Given the description of an element on the screen output the (x, y) to click on. 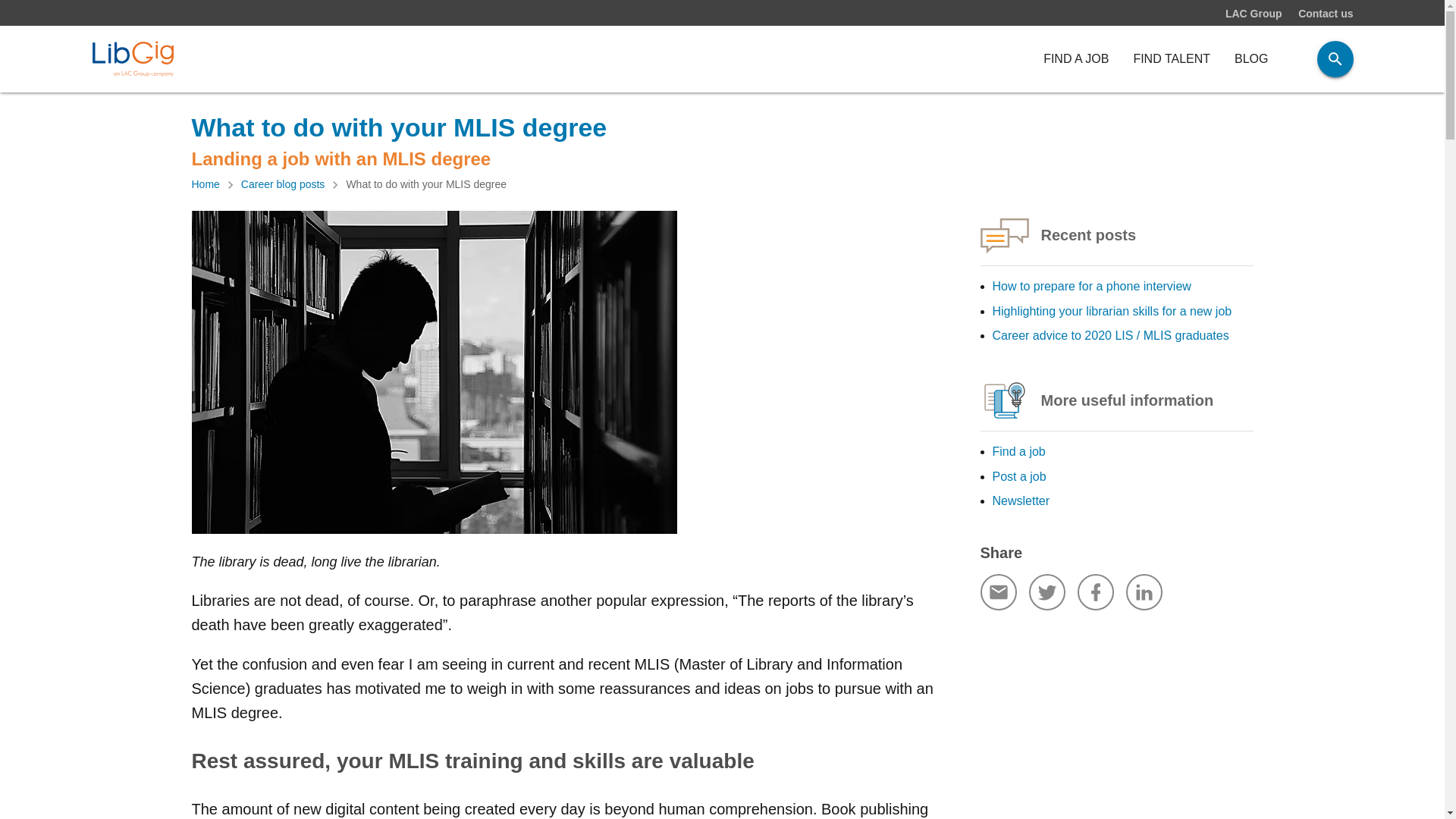
Career blog posts (282, 184)
Facebook (1095, 592)
FIND TALENT (1172, 58)
LAC Group (1254, 13)
LinkedIn (1143, 592)
Twitter (1045, 592)
Highlighting your librarian skills for a new job (1111, 310)
How to prepare for a phone interview (1091, 286)
FIND A JOB (1075, 58)
Email (997, 592)
Home (204, 184)
Contact us (1325, 13)
